Given the description of an element on the screen output the (x, y) to click on. 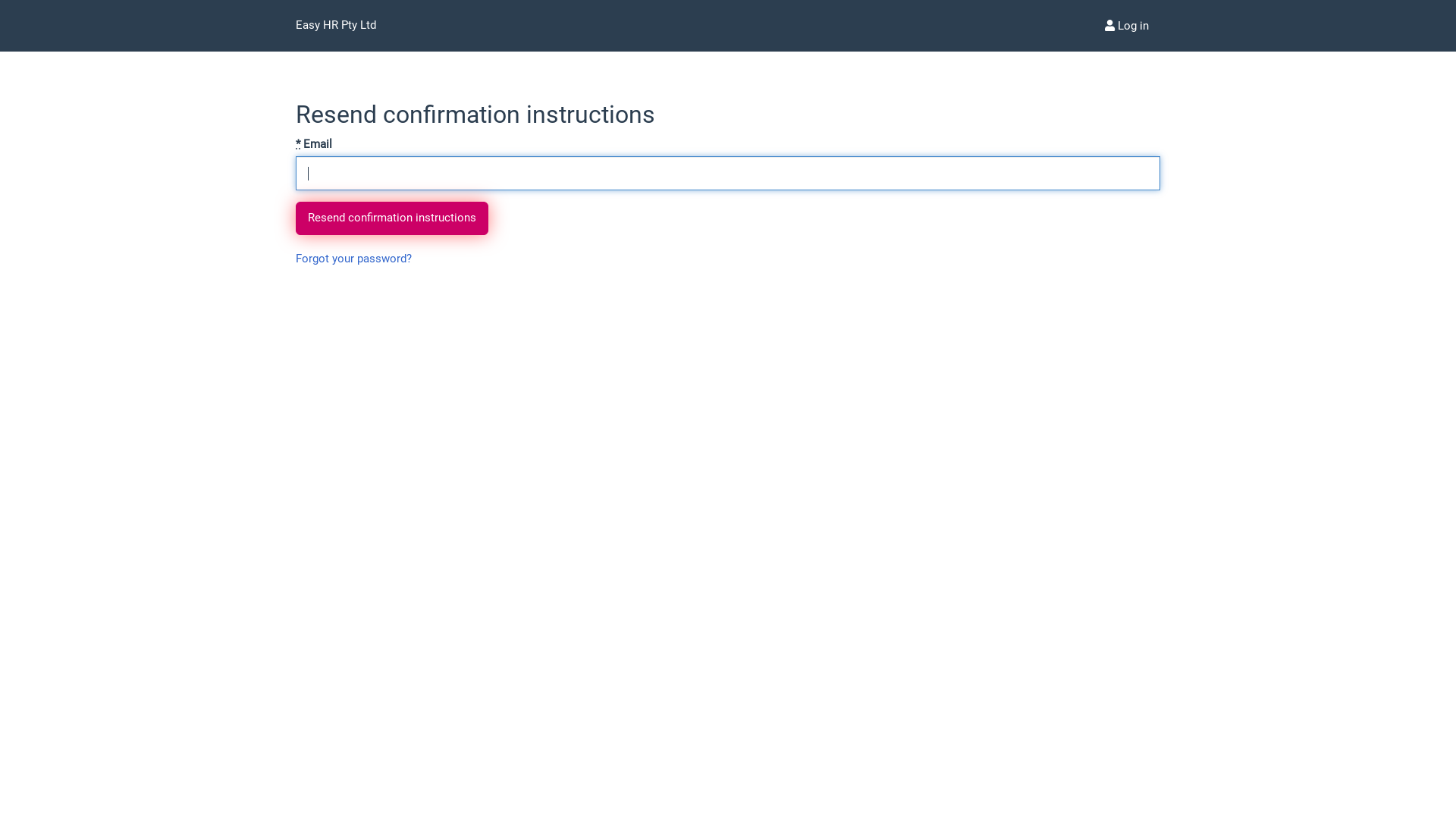
Resend confirmation instructions Element type: text (391, 217)
Forgot your password? Element type: text (353, 258)
Log in Element type: text (1126, 25)
